Given the description of an element on the screen output the (x, y) to click on. 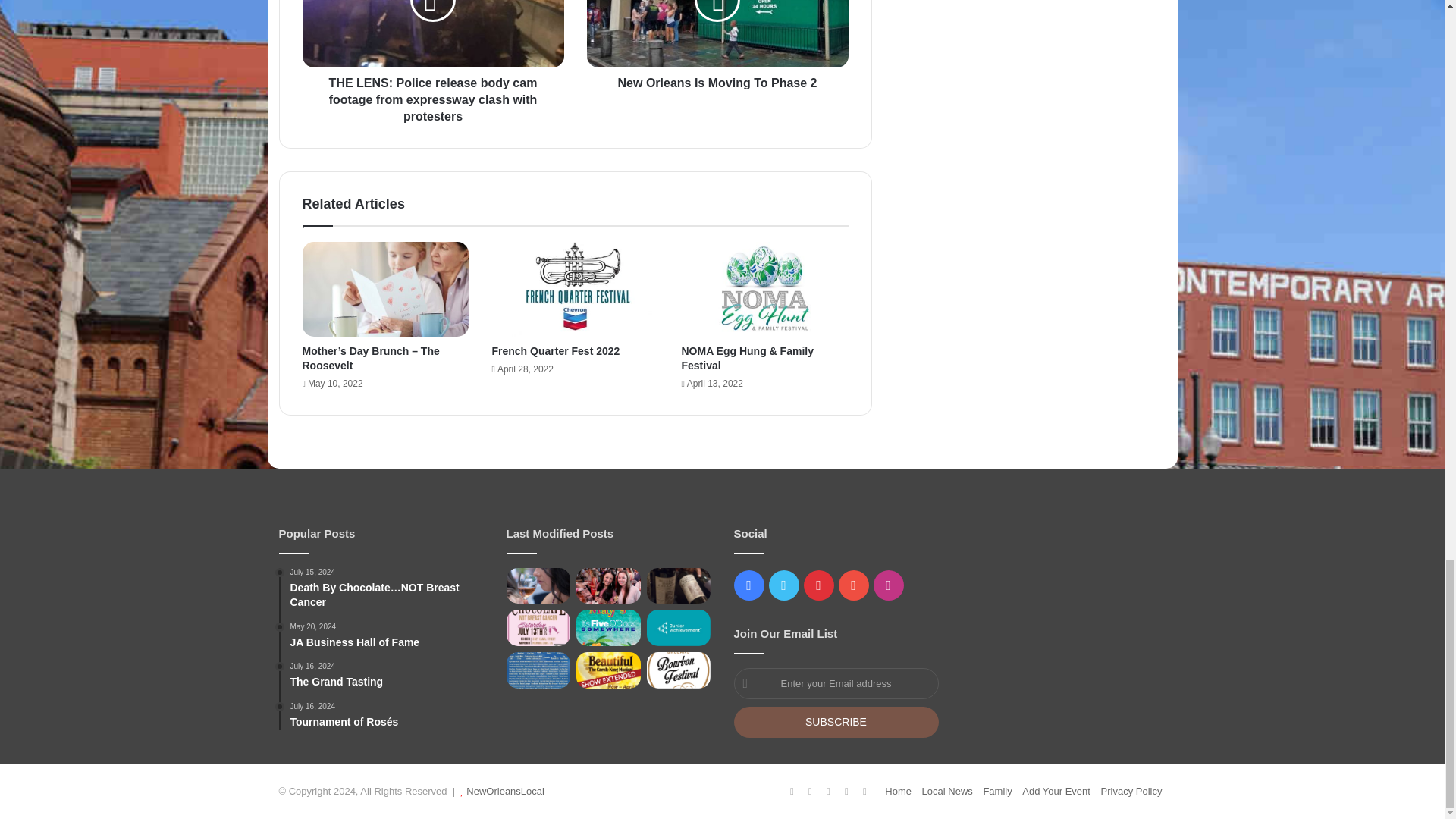
Subscribe (836, 721)
